Given the description of an element on the screen output the (x, y) to click on. 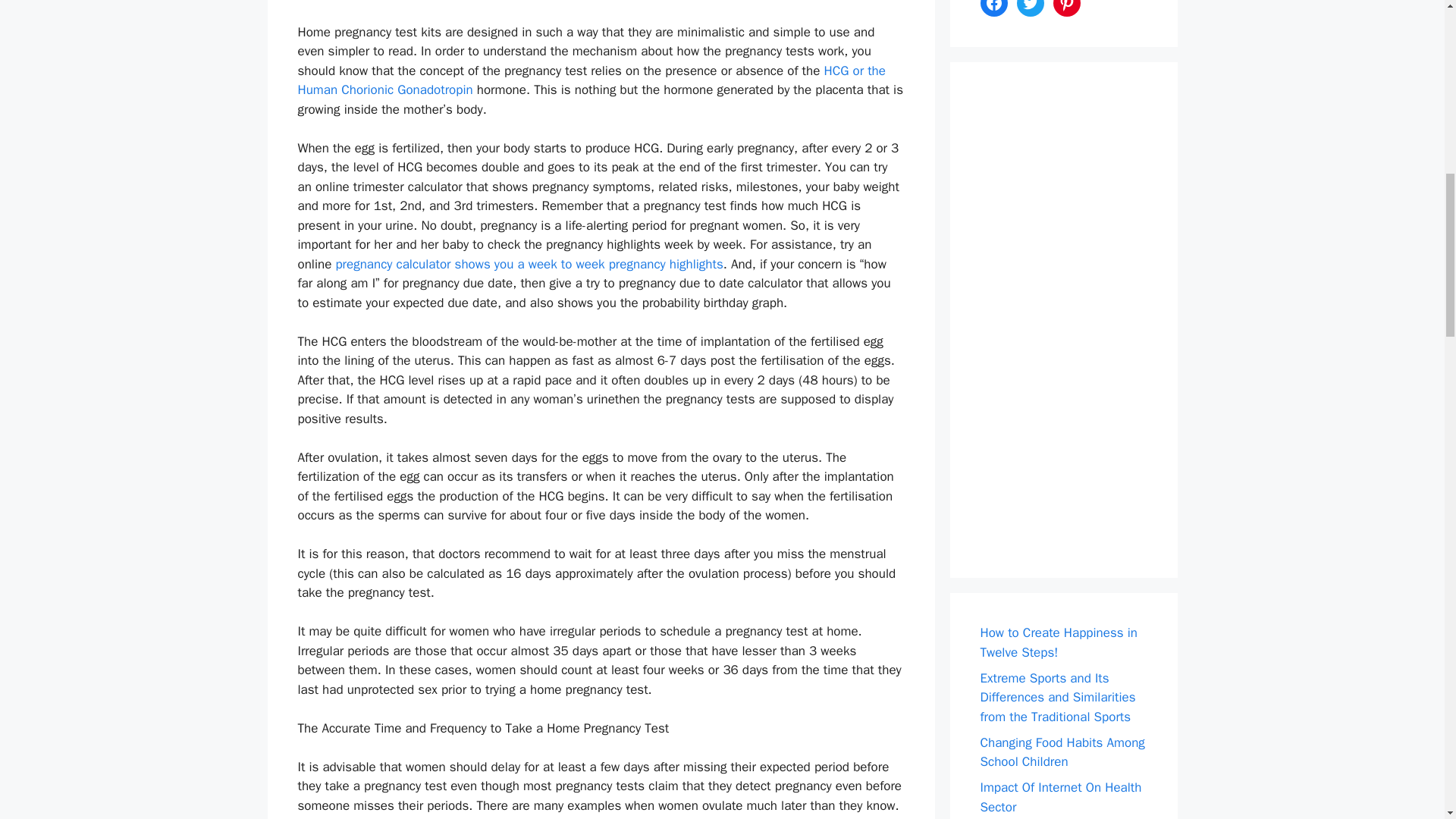
Facebook (993, 8)
Scroll back to top (1406, 720)
Advertisement (1077, 319)
HCG or the Human Chorionic Gonadotropin (591, 80)
